Given the description of an element on the screen output the (x, y) to click on. 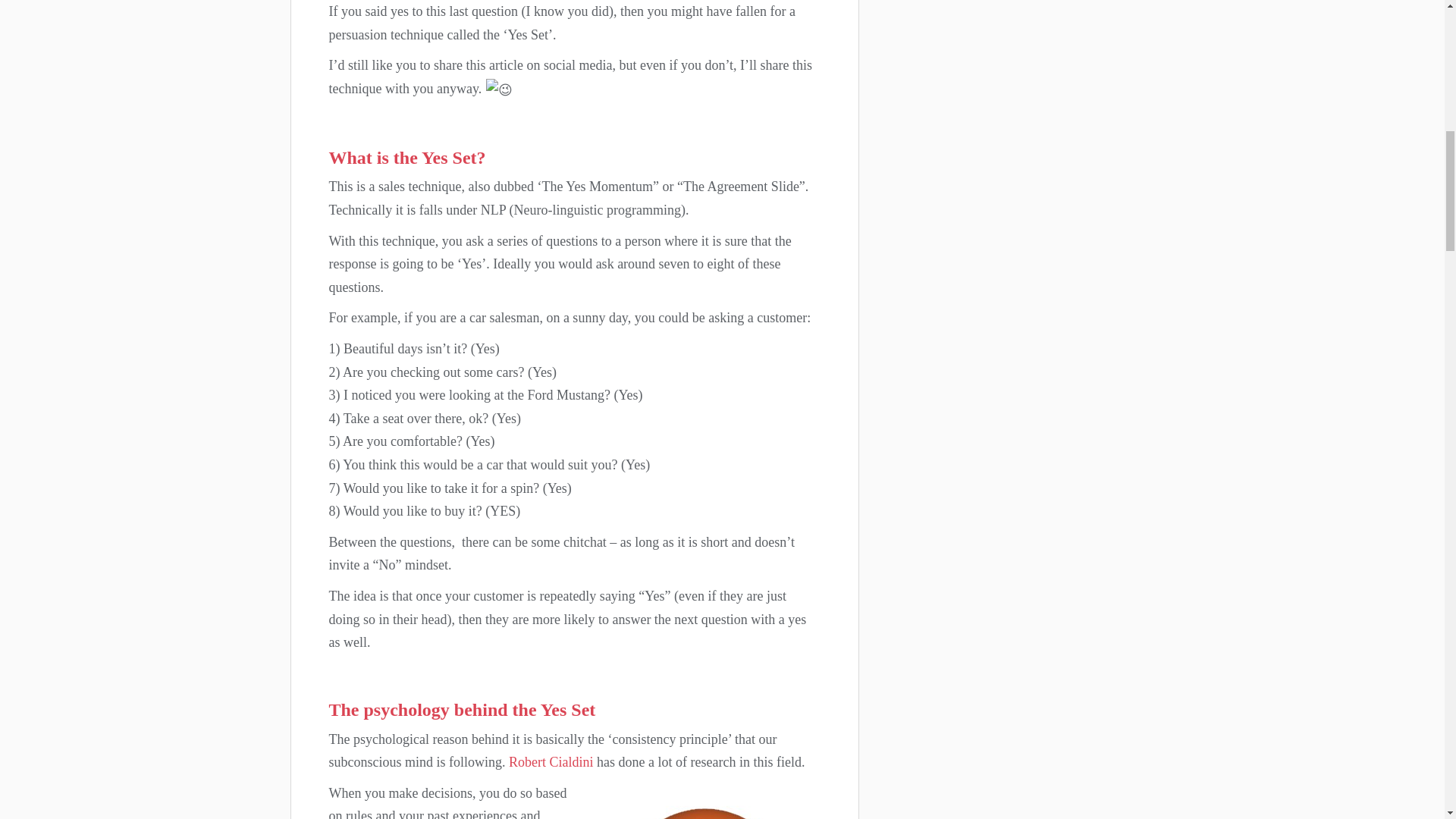
Robert Cialdini (551, 761)
Robert Cialdini (551, 761)
